Given the description of an element on the screen output the (x, y) to click on. 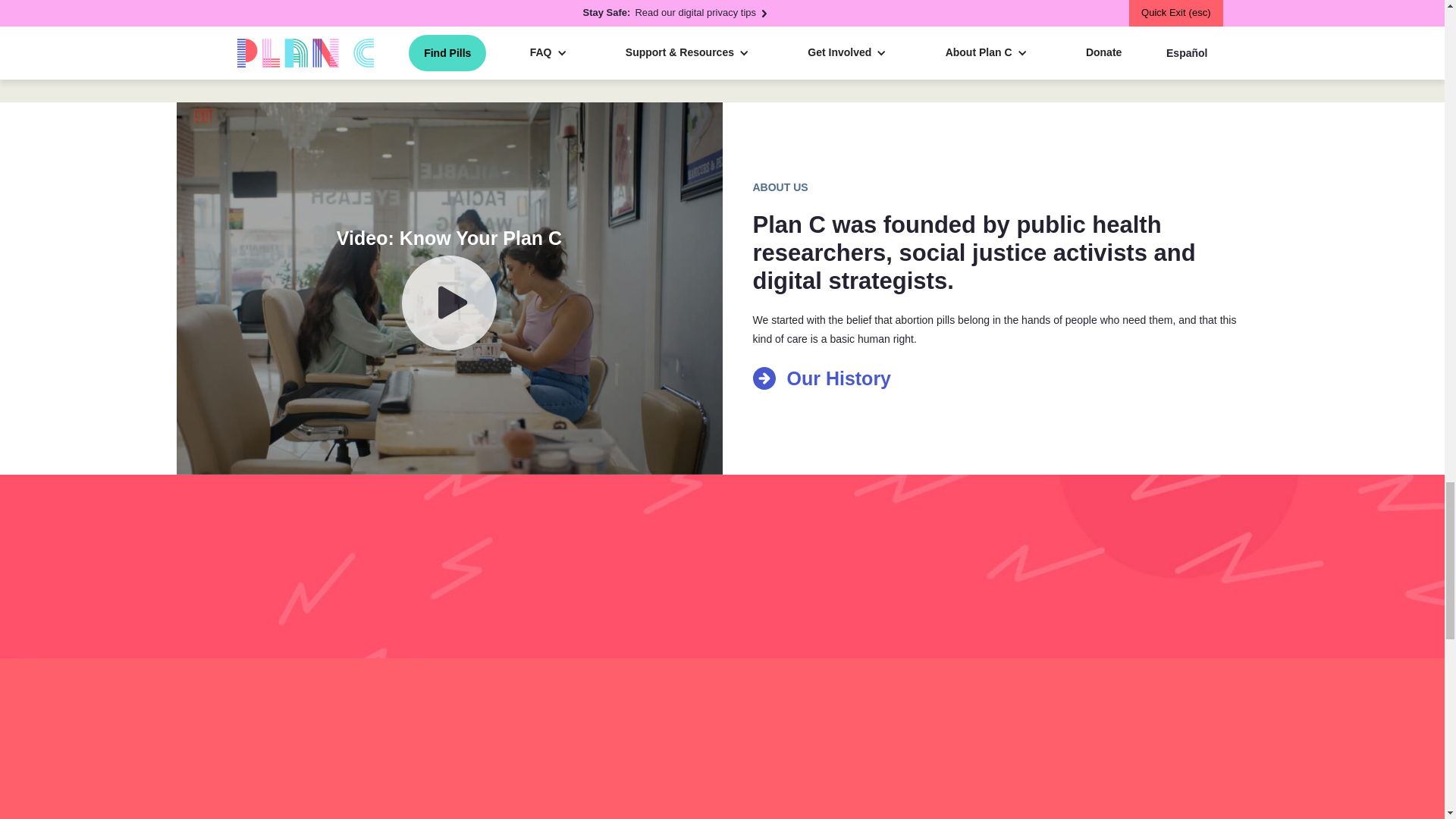
play button image (448, 302)
